Given the description of an element on the screen output the (x, y) to click on. 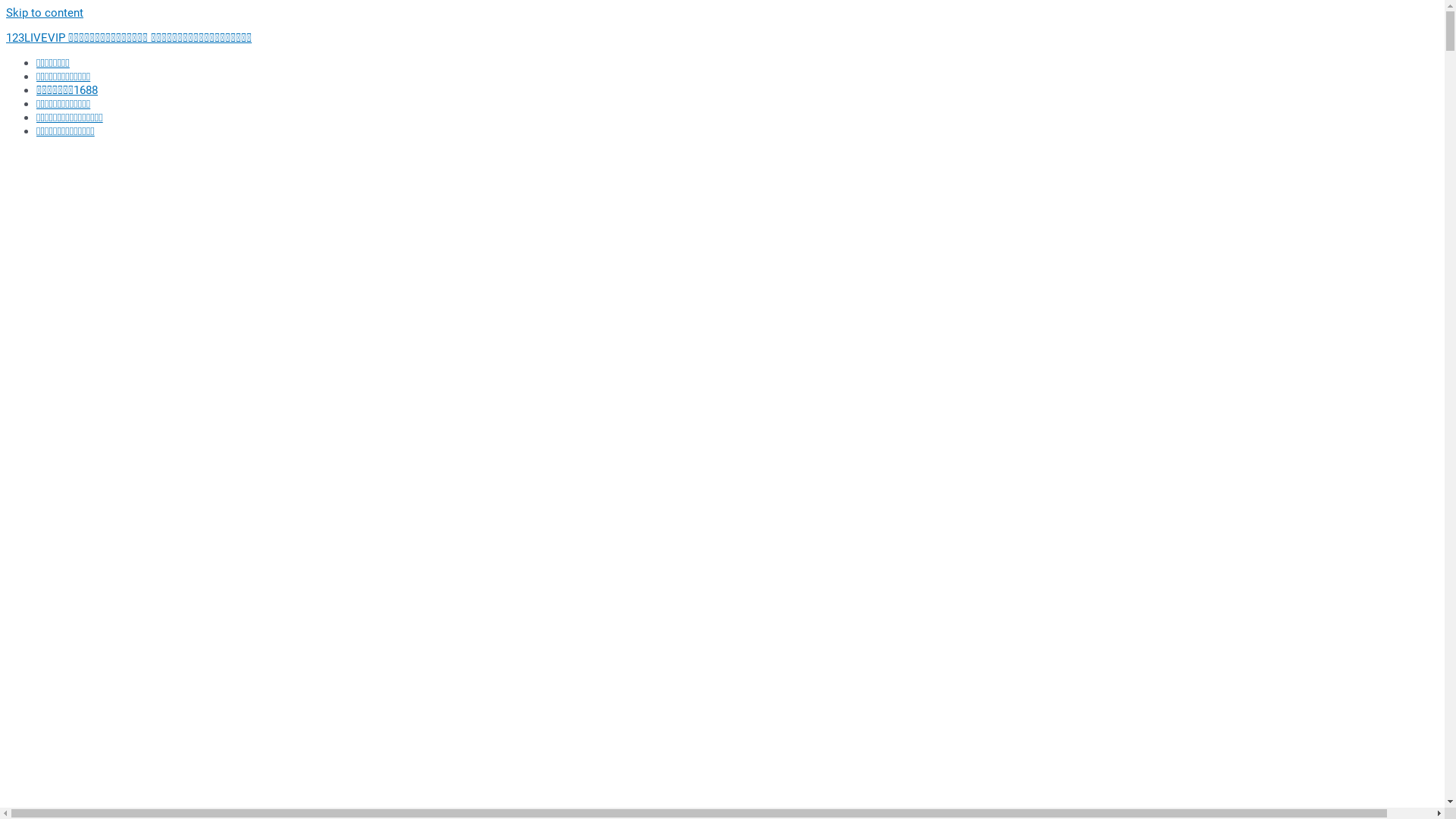
Skip to content Element type: text (44, 12)
